Given the description of an element on the screen output the (x, y) to click on. 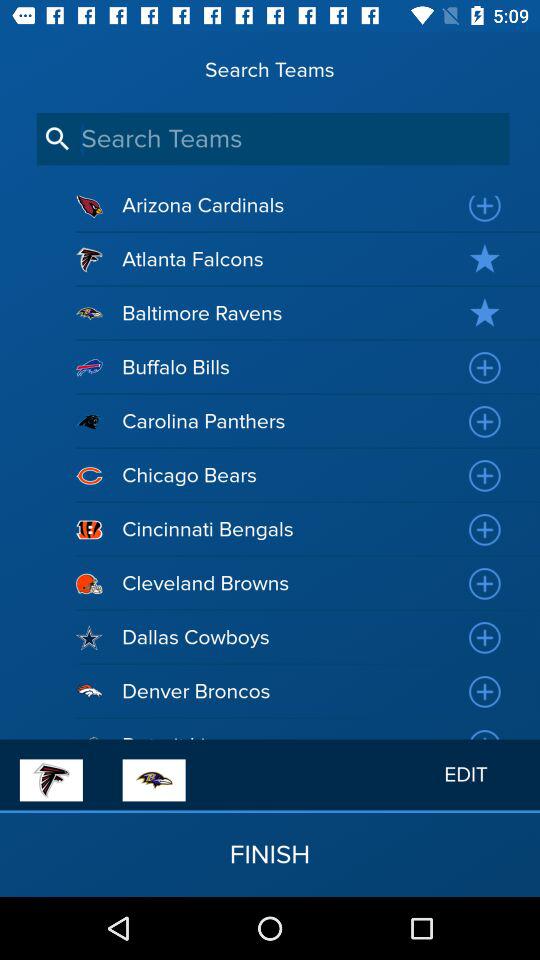
choose finish item (270, 854)
